Given the description of an element on the screen output the (x, y) to click on. 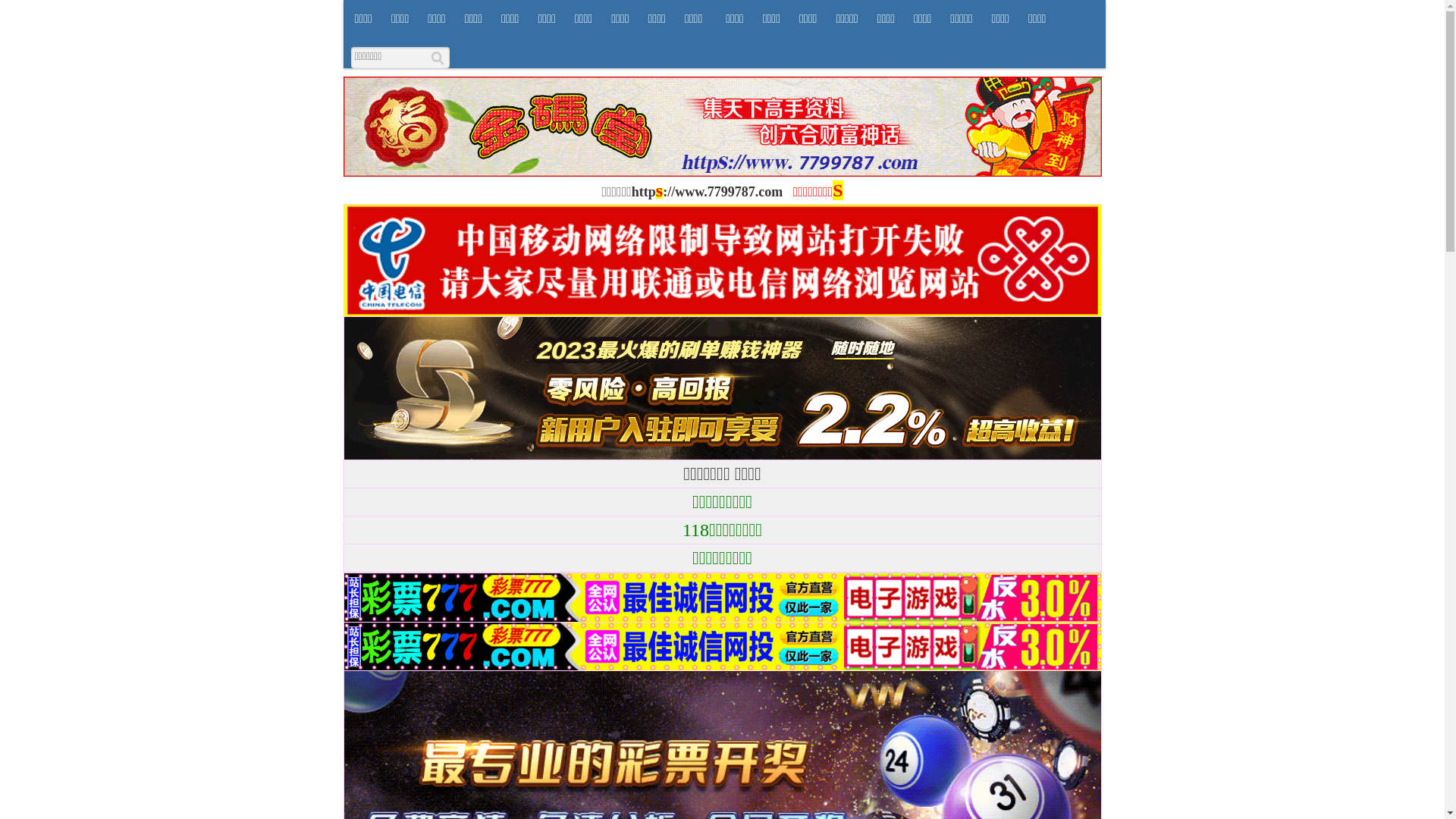
http Element type: text (643, 191)
